Given the description of an element on the screen output the (x, y) to click on. 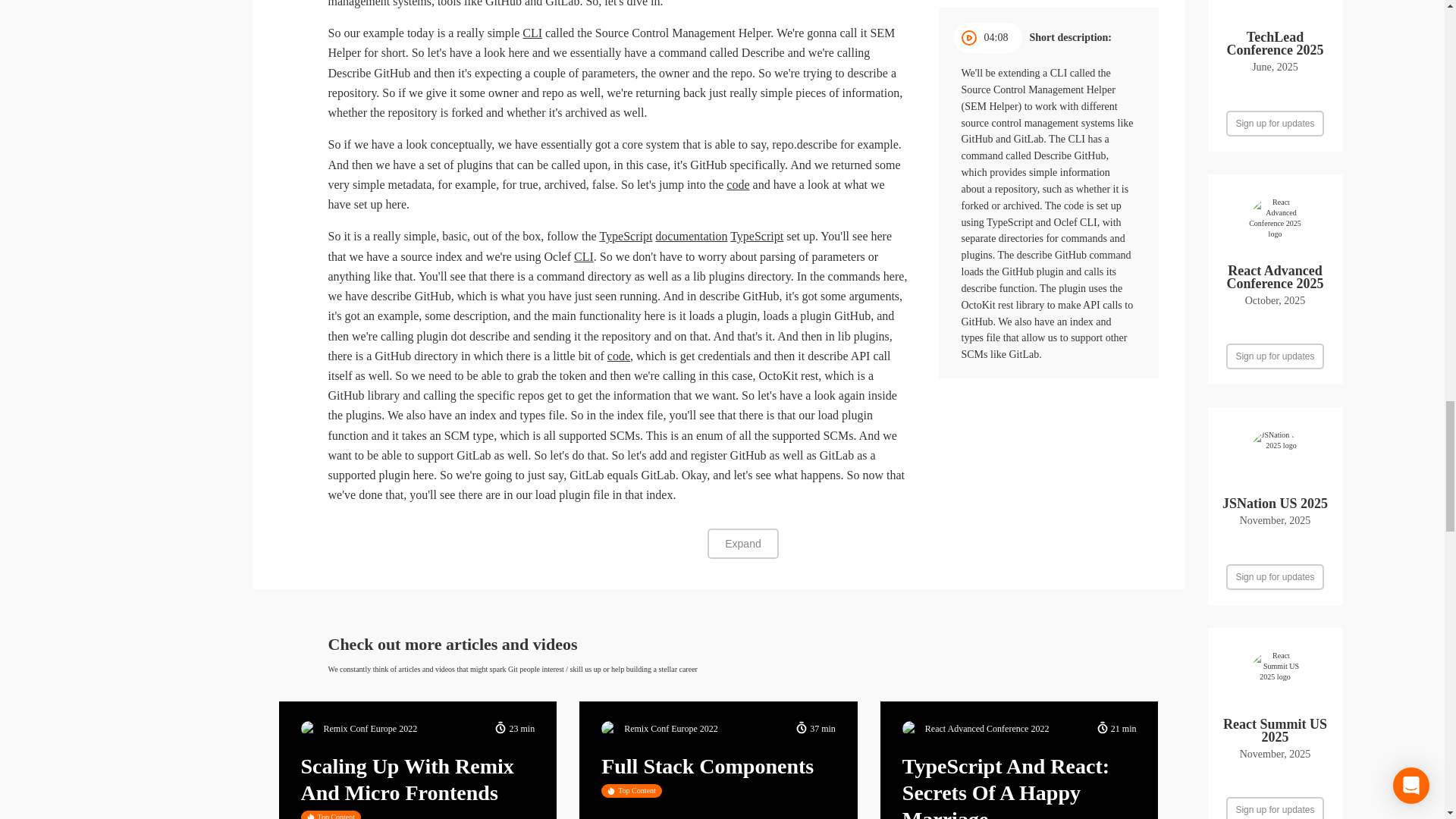
Get email notification when event registration opens. (1274, 807)
Get email notification when event registration opens. (1274, 123)
Get email notification when event registration opens. (1274, 356)
Get email notification when event registration opens. (1274, 576)
